Given the description of an element on the screen output the (x, y) to click on. 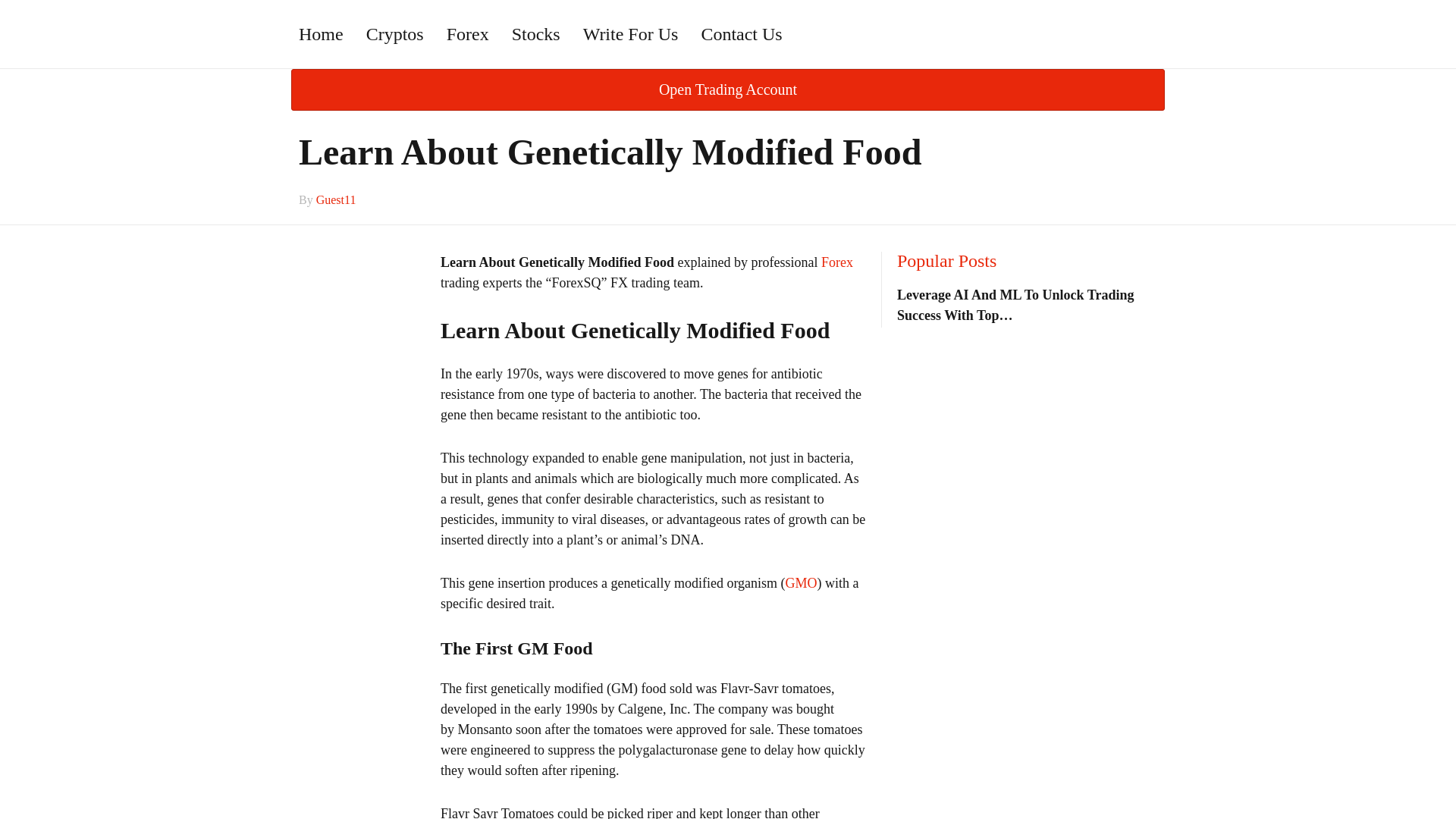
Write For Us (631, 33)
GMO (801, 582)
Forex (837, 262)
Posts by Guest11 (335, 199)
Forex (467, 33)
Stocks (536, 33)
Open Trading Account (727, 89)
Cryptos (395, 33)
Contact Us (740, 33)
Guest11 (335, 199)
